Given the description of an element on the screen output the (x, y) to click on. 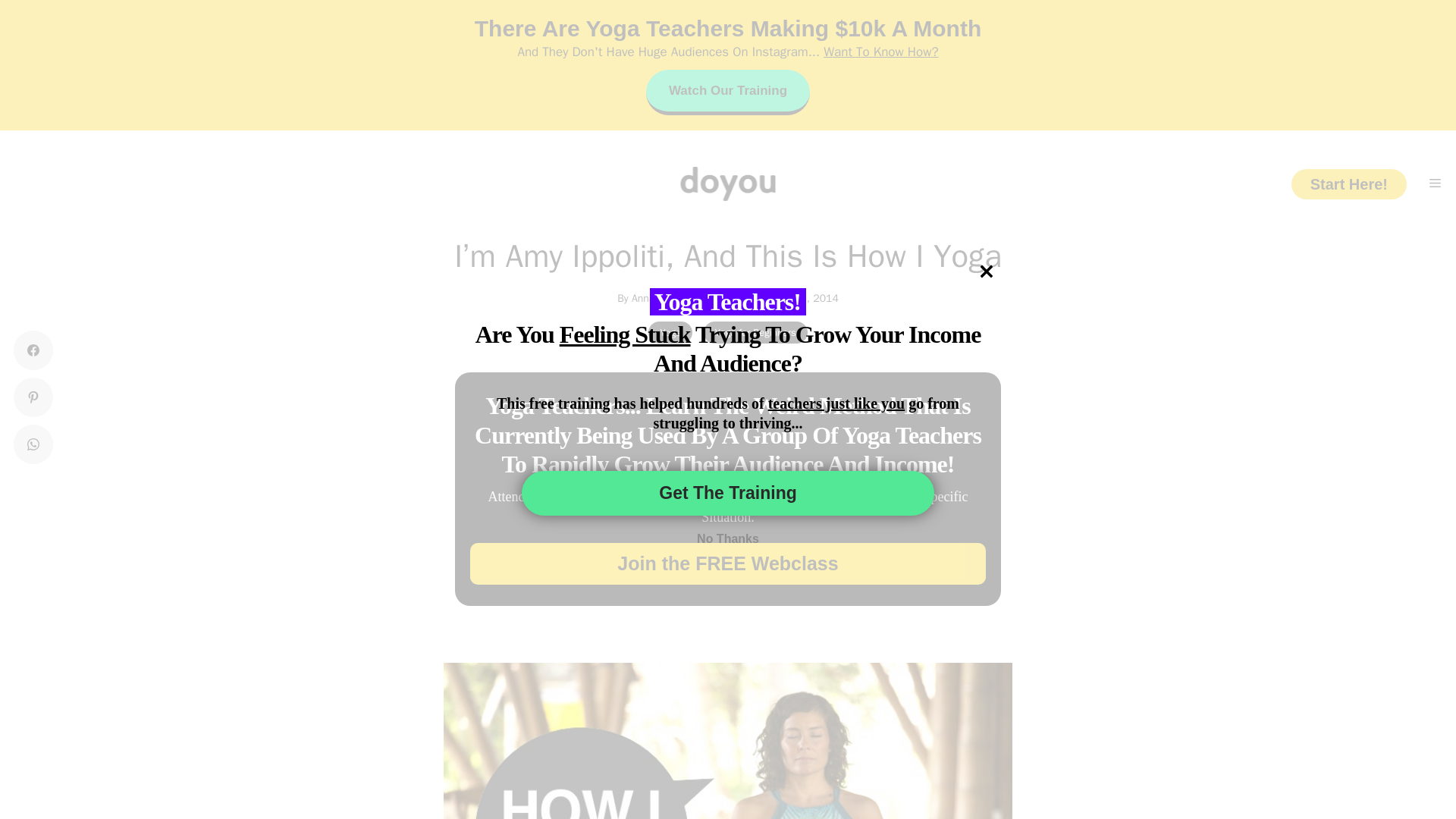
Start Here! (1348, 183)
No Thanks (727, 539)
Get The Training (727, 492)
Watch Our Training (727, 92)
Close (986, 271)
Posts by Anna Coventry (664, 297)
Yoga (670, 332)
Join the FREE Webclass (727, 563)
DoYou (728, 183)
Yoga for Beginners (755, 332)
Join the FREE Webclass (727, 563)
Anna Coventry (664, 297)
